Given the description of an element on the screen output the (x, y) to click on. 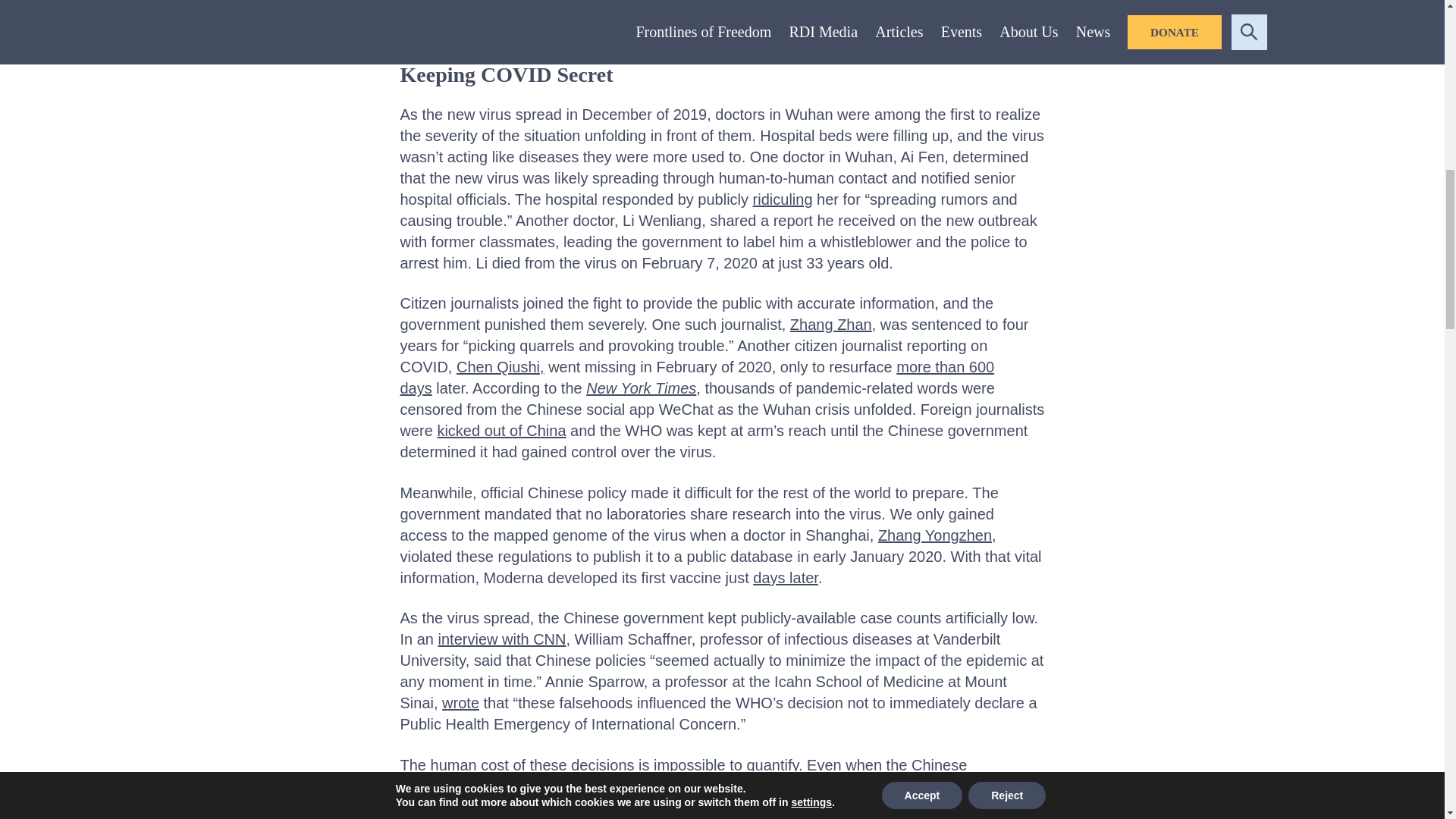
New York Times (640, 388)
interview with CNN (502, 638)
wrote (460, 702)
kicked out of China (501, 430)
Zhang Zhan (831, 324)
ridiculing (782, 199)
more than 600 days (697, 377)
Chen Qiushi, (500, 366)
days later (785, 577)
Zhang Yongzhen (934, 535)
